Given the description of an element on the screen output the (x, y) to click on. 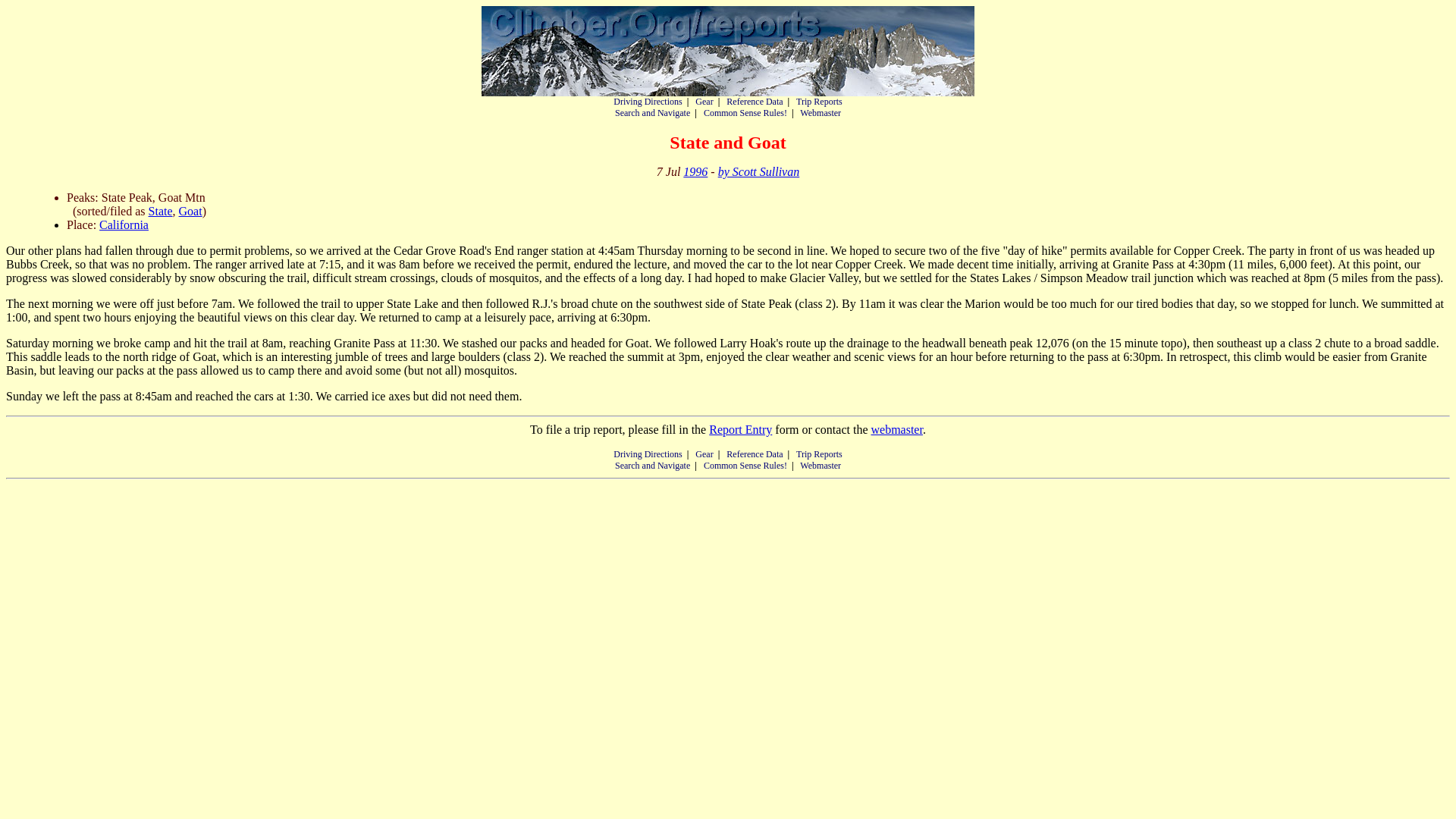
Search and Navigate (652, 112)
Gear (704, 453)
Common Sense Rules! (745, 465)
California (123, 224)
1996 (694, 171)
Common Sense Rules! (745, 112)
State (160, 210)
Goat (190, 210)
Report Entry (740, 429)
Reference Data (754, 101)
by Scott Sullivan (758, 171)
Climber.Org Home Page (727, 50)
Driving Directions (646, 453)
webmaster (895, 429)
Trip Reports (819, 101)
